Given the description of an element on the screen output the (x, y) to click on. 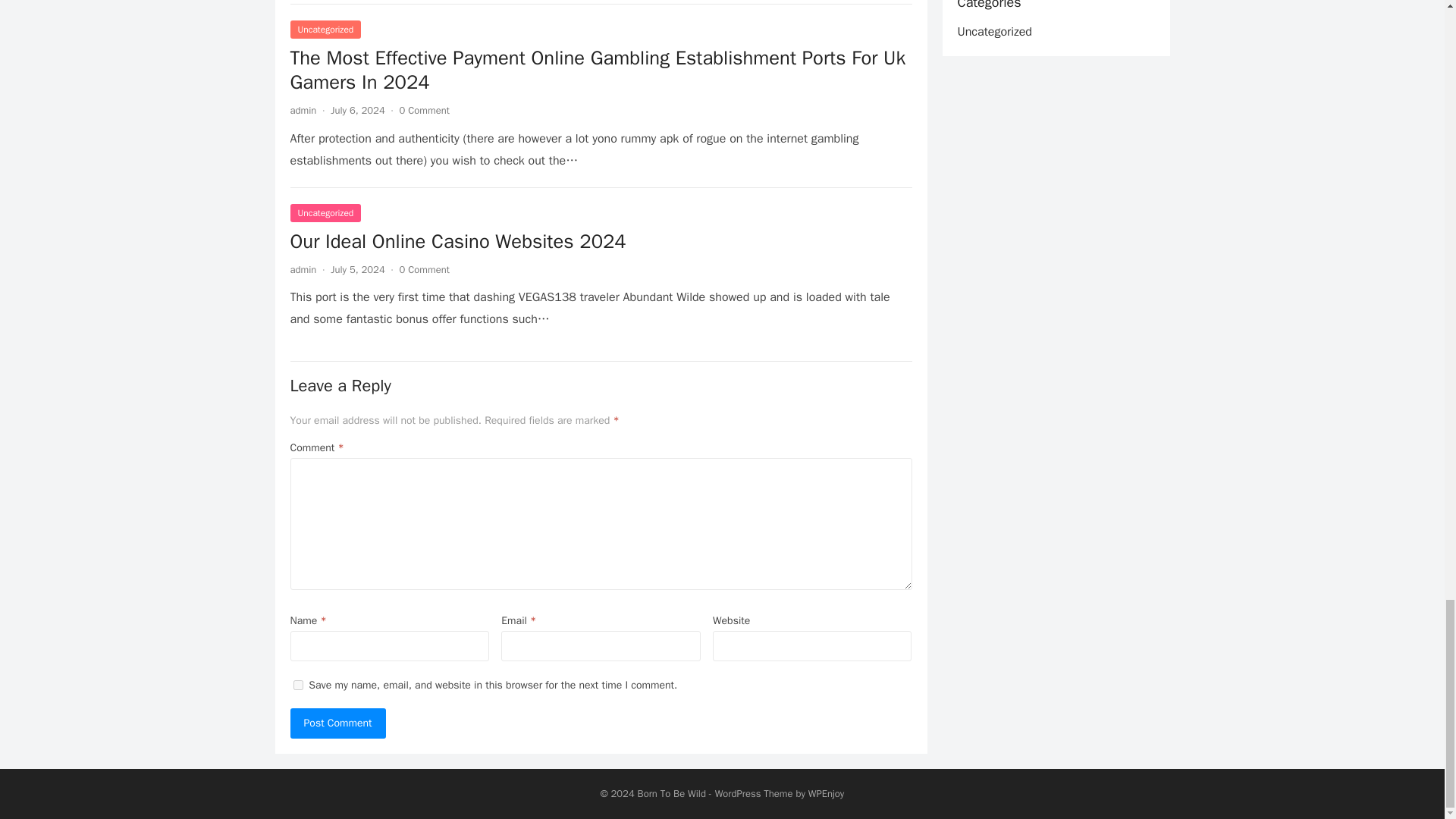
0 Comment (423, 110)
admin (302, 110)
Post Comment (337, 723)
admin (302, 269)
Posts by admin (302, 269)
Our Ideal Online Casino Websites 2024 (457, 241)
0 Comment (423, 269)
Uncategorized (325, 29)
Posts by admin (302, 110)
yes (297, 685)
